Given the description of an element on the screen output the (x, y) to click on. 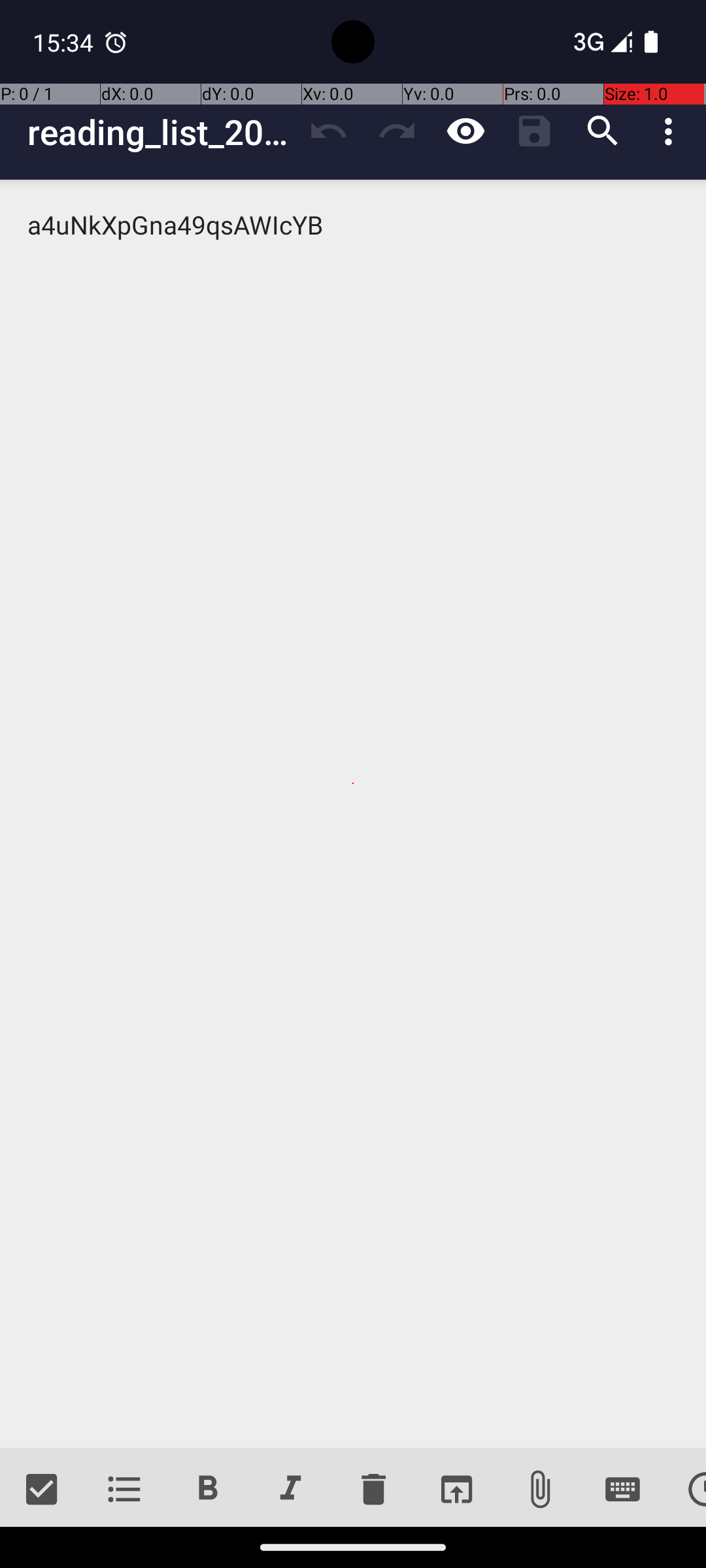
reading_list_2024_2023_09_17 Element type: android.widget.TextView (160, 131)
a4uNkXpGna49qsAWIcYB
 Element type: android.widget.EditText (353, 813)
